Given the description of an element on the screen output the (x, y) to click on. 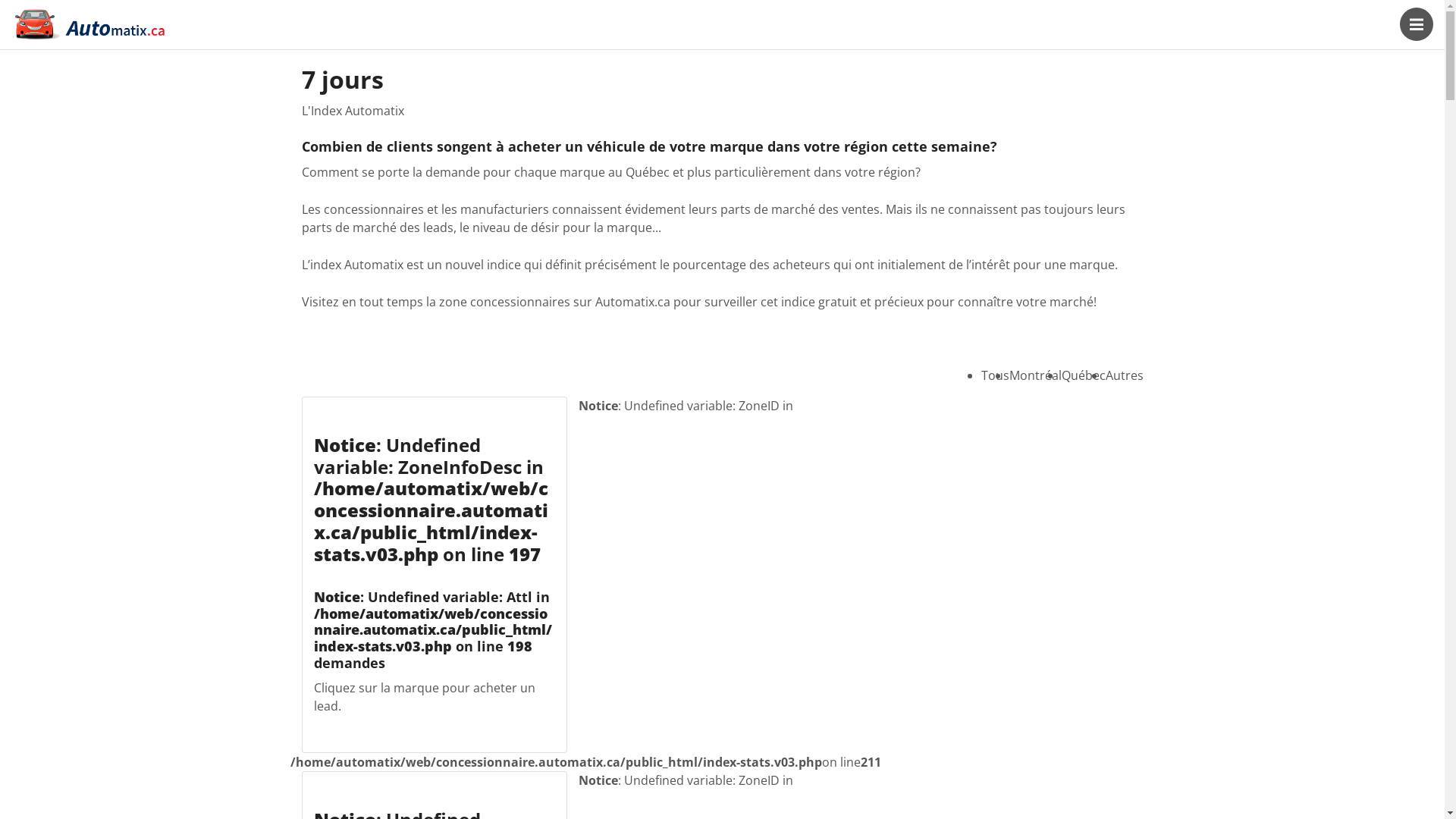
Menu Element type: text (1416, 23)
